Given the description of an element on the screen output the (x, y) to click on. 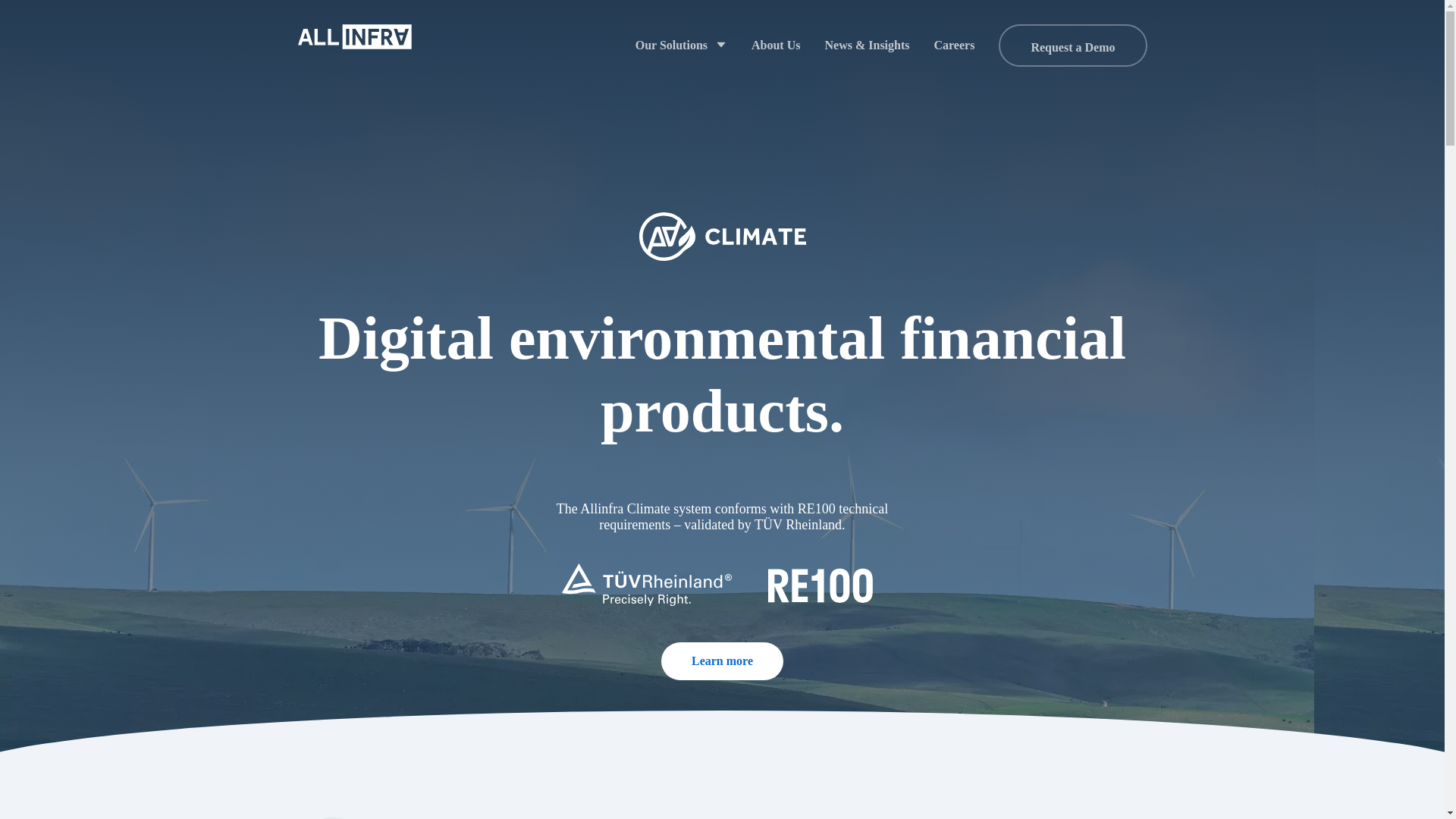
Learn more (722, 661)
Learn more (721, 660)
Request a Demo (1072, 47)
Careers (954, 45)
Request a Demo (1072, 45)
About Us (775, 45)
